Given the description of an element on the screen output the (x, y) to click on. 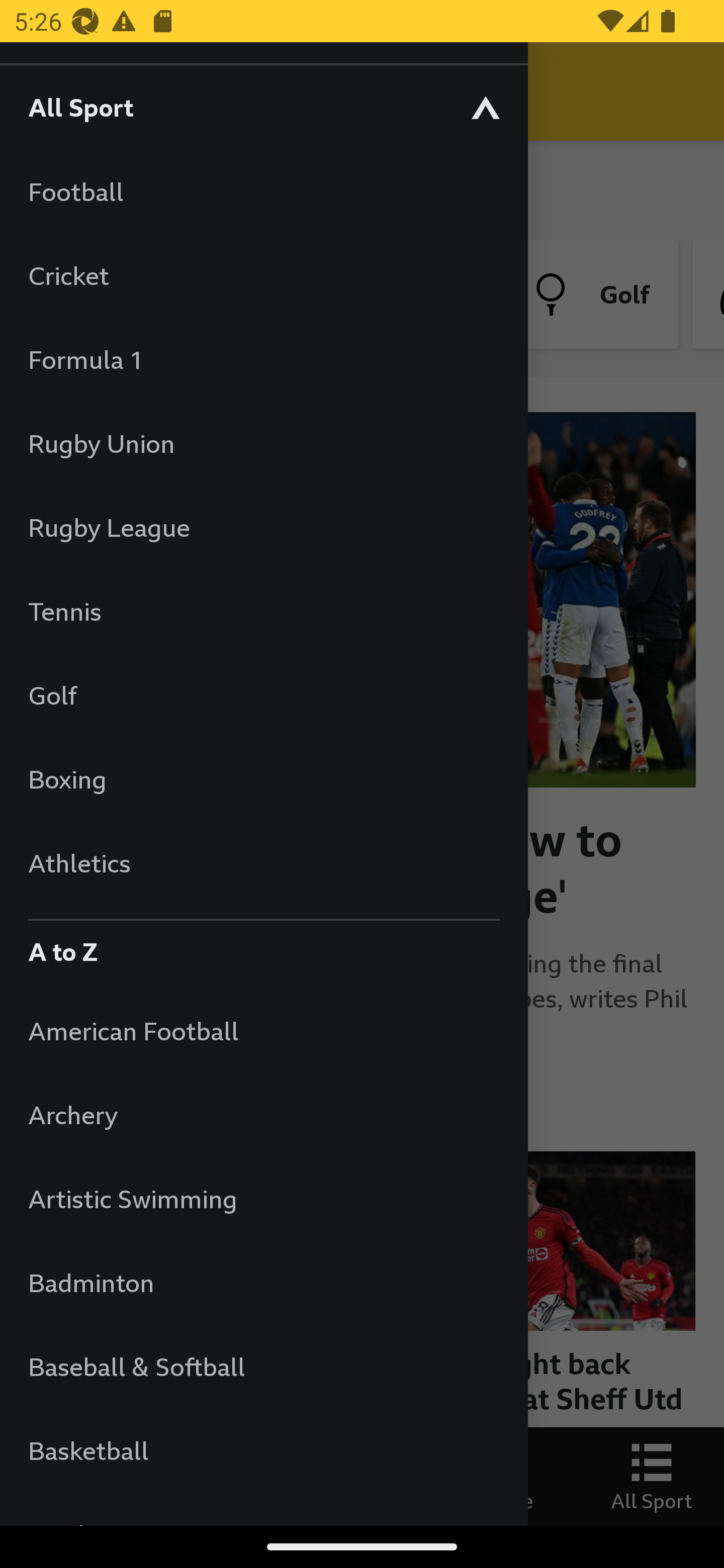
All Sport (263, 106)
Football (263, 190)
Cricket (263, 275)
Formula 1 (263, 358)
Rugby Union (263, 443)
Rugby League (263, 526)
Tennis (263, 611)
Golf (263, 694)
Boxing (263, 778)
Athletics (263, 862)
A to Z (263, 946)
American Football (263, 1029)
Archery (263, 1114)
Artistic Swimming (263, 1198)
Badminton (263, 1282)
Baseball & Softball (263, 1366)
Basketball (263, 1450)
